Given the description of an element on the screen output the (x, y) to click on. 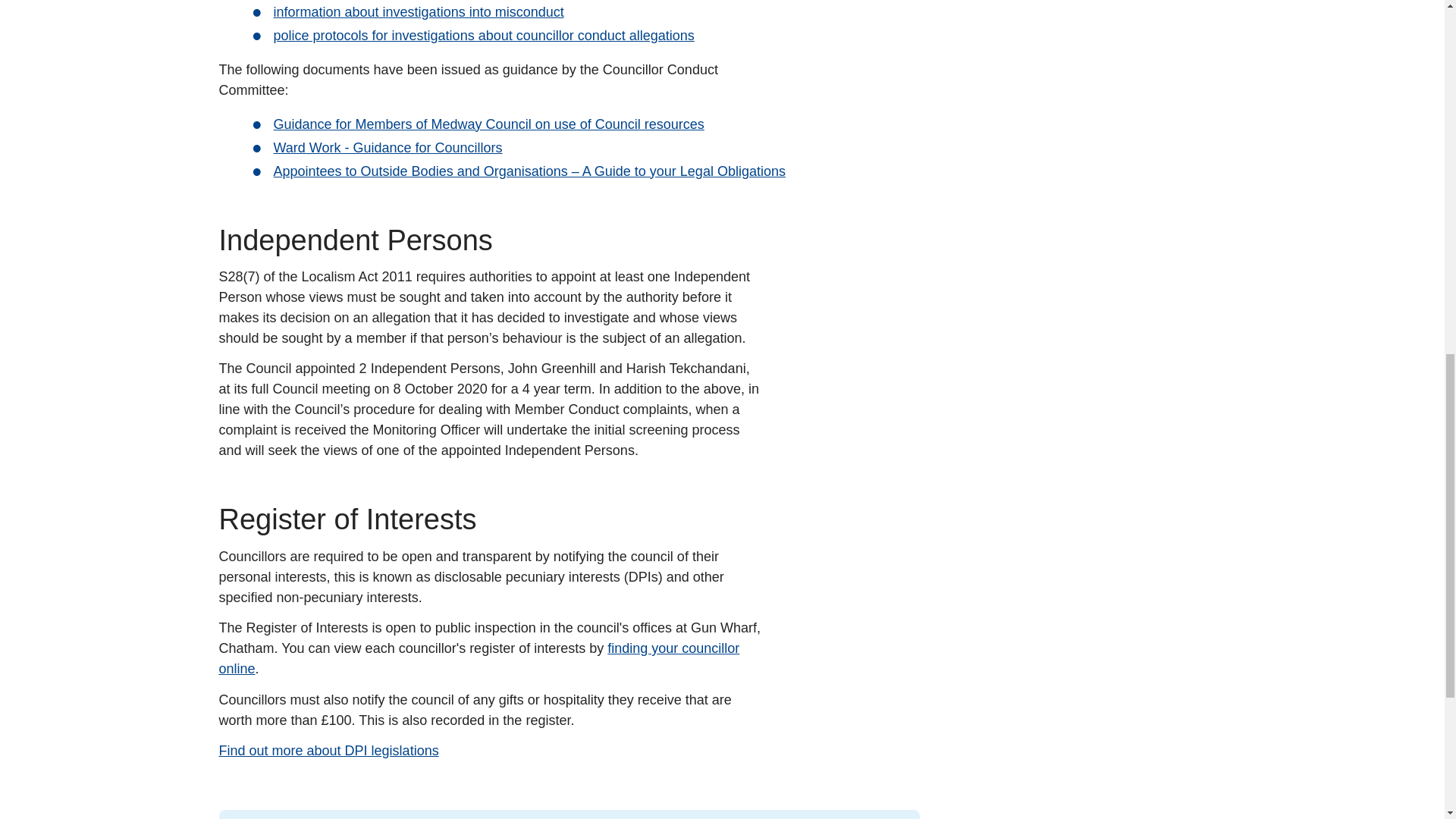
Leave feedback about this page (568, 814)
finding your councillor online (478, 659)
Ward Work - Guidance for Councillors (387, 147)
Find out more about DPI legislations (328, 751)
information about investigations into misconduct (418, 12)
